Given the description of an element on the screen output the (x, y) to click on. 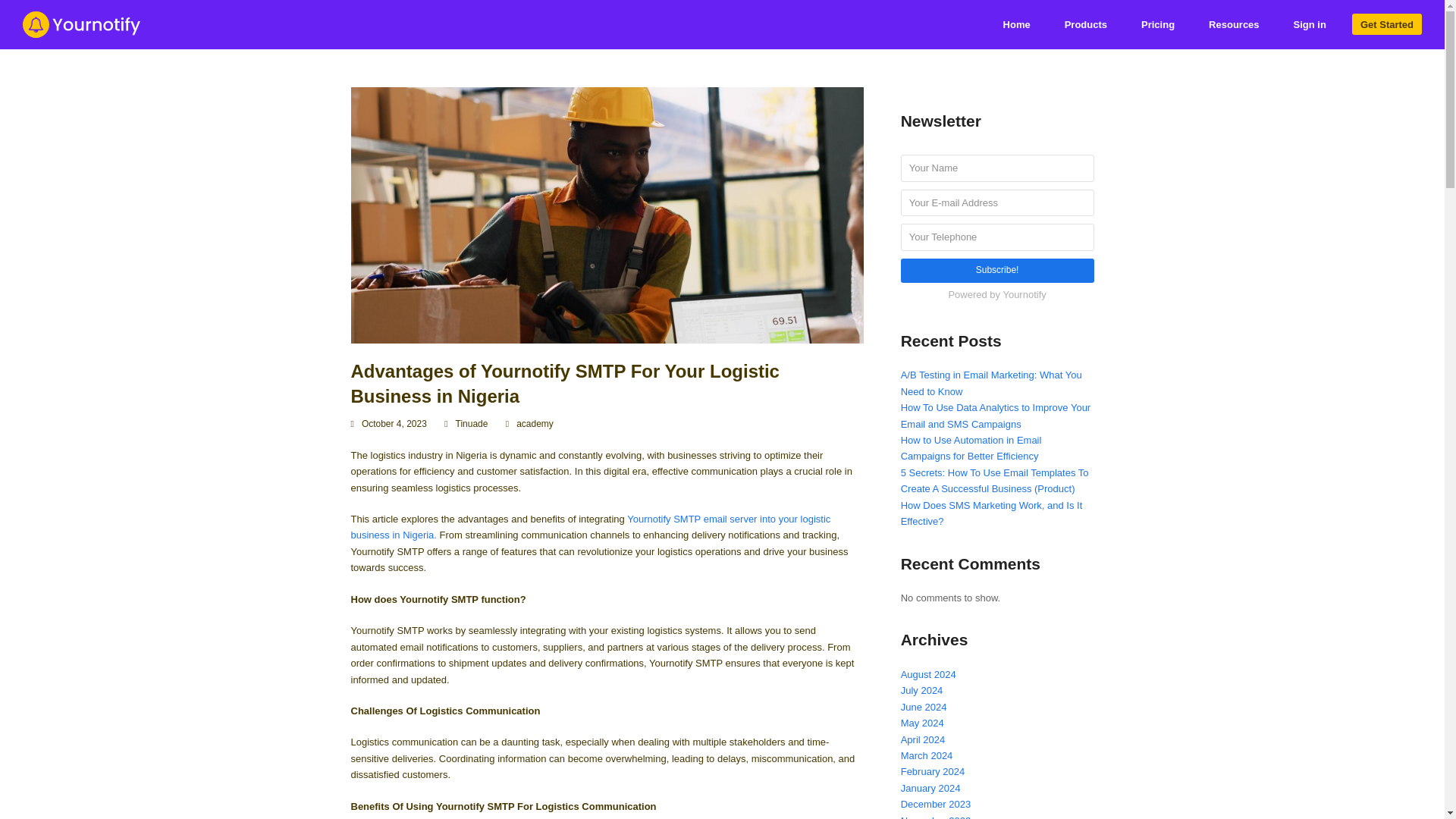
Products (1085, 24)
Posts by Tinuade (471, 423)
Tinuade (471, 423)
Home (1016, 24)
Subscribe! (997, 270)
Get Started (1387, 24)
Resources (1232, 24)
Sign in (1310, 24)
Pricing (1157, 24)
